Given the description of an element on the screen output the (x, y) to click on. 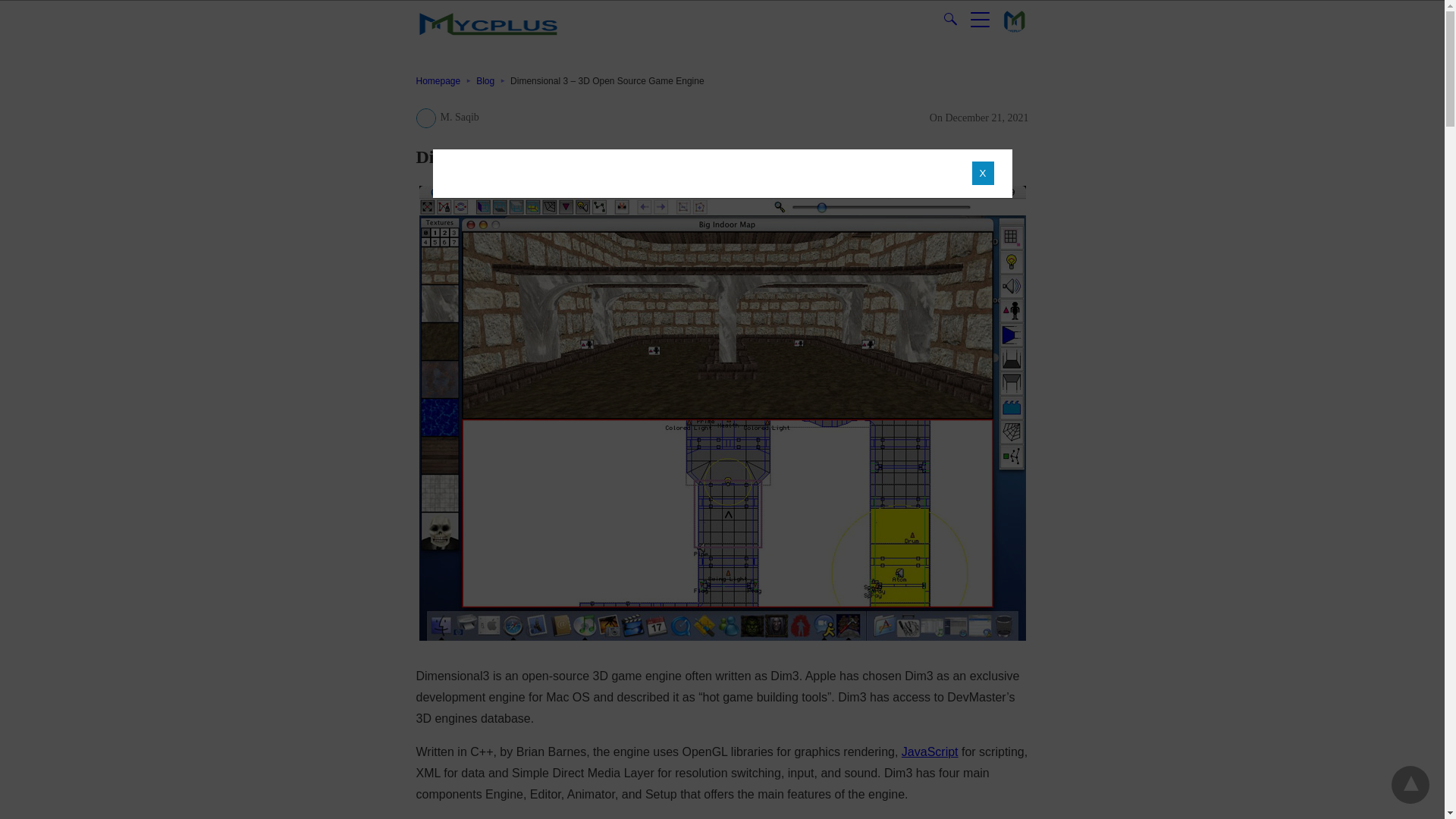
Homepage (445, 81)
Blog (493, 81)
Homepage (445, 81)
back to top (1410, 784)
Blog (493, 81)
JavaScript (929, 751)
